Given the description of an element on the screen output the (x, y) to click on. 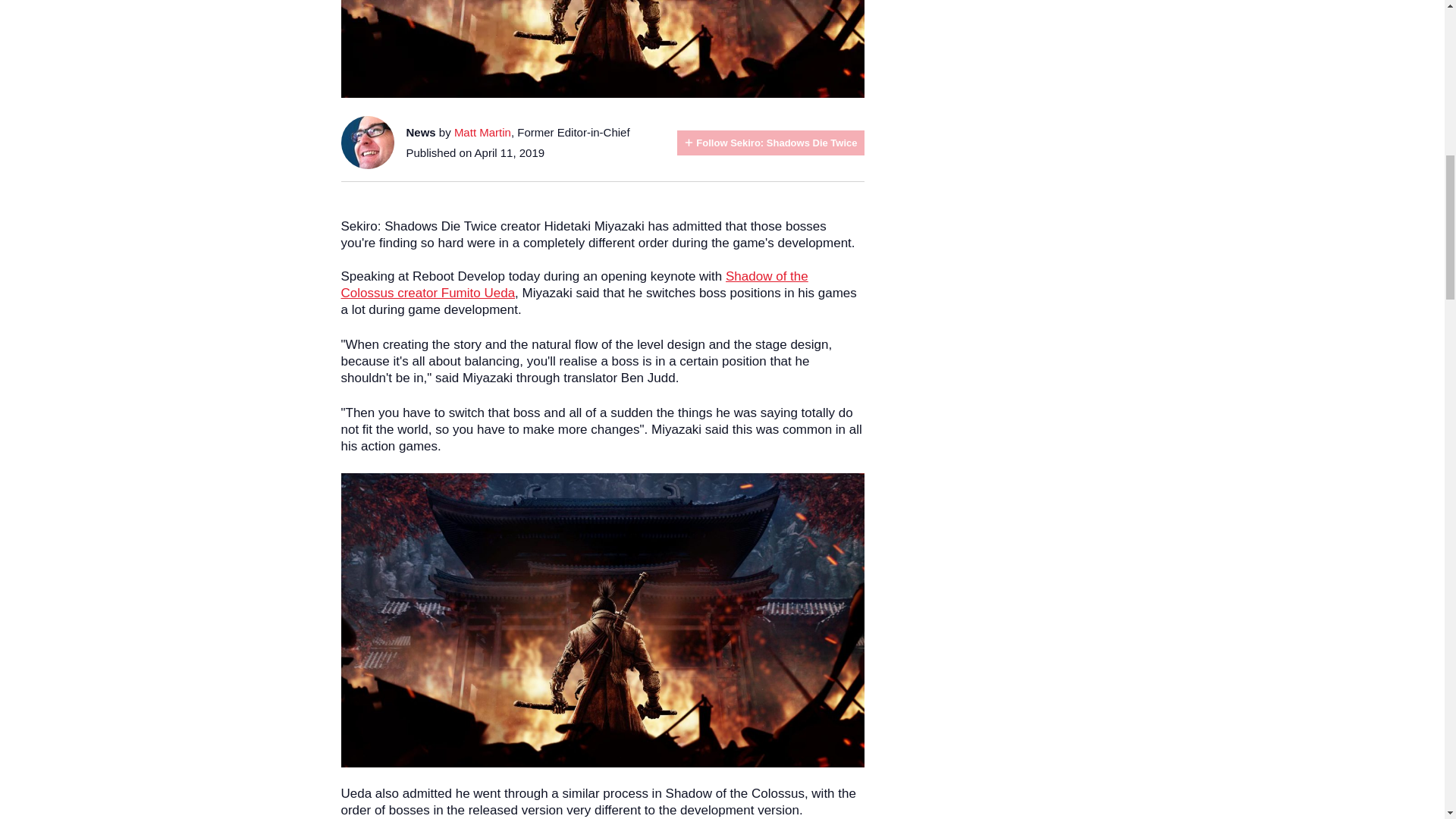
Shadow of the Colossus creator Fumito Ueda (574, 284)
Matt Martin (482, 132)
Follow Sekiro: Shadows Die Twice (770, 142)
Follow Sekiro: Shadows Die Twice (770, 142)
